Given the description of an element on the screen output the (x, y) to click on. 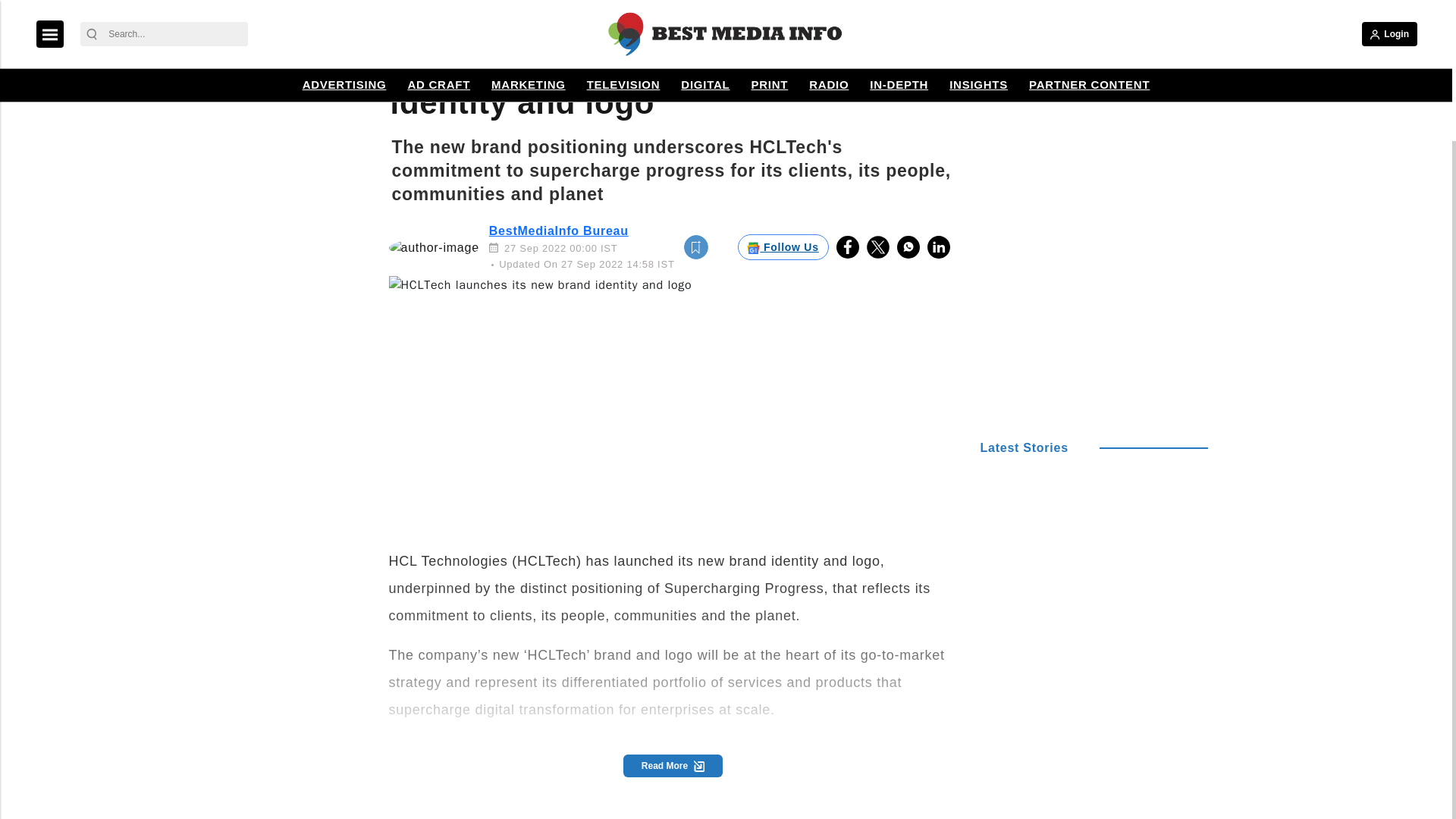
BestMediaInfo Bureau (558, 230)
Follow Us (782, 247)
Marketing (429, 20)
